Given the description of an element on the screen output the (x, y) to click on. 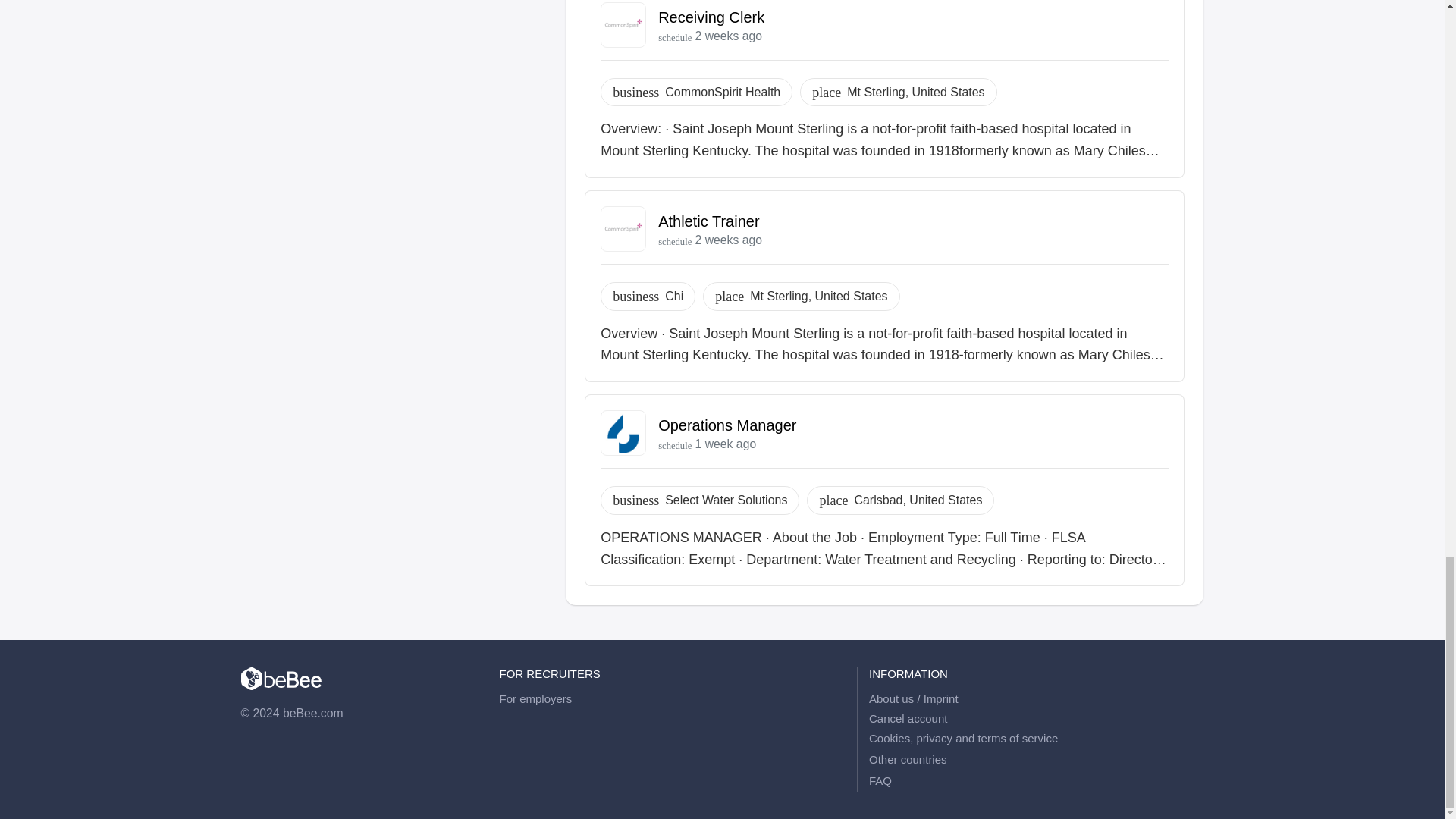
Receiving Clerk (711, 17)
Receiving Clerk (711, 17)
Select Water Solutions (726, 500)
Athletic Trainer (708, 221)
For employers (666, 699)
Other countries (1036, 759)
Operations Manager (727, 425)
Operations Manager (727, 425)
Chi (673, 296)
Cancel account (908, 719)
CommonSpirit Health (722, 92)
Athletic Trainer (708, 221)
Cookies, privacy and terms of service (1036, 738)
